Given the description of an element on the screen output the (x, y) to click on. 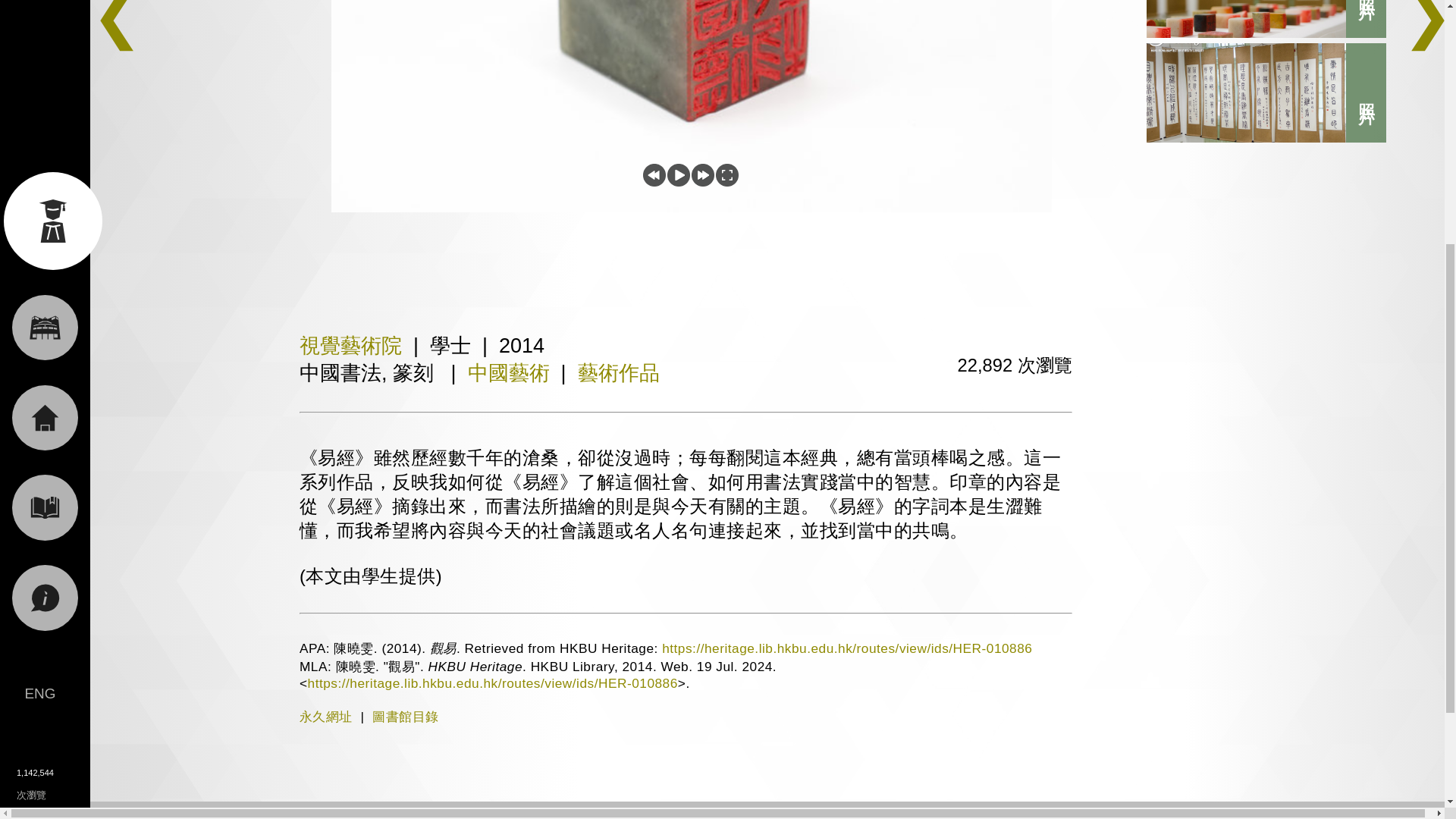
ENG (40, 291)
